Given the description of an element on the screen output the (x, y) to click on. 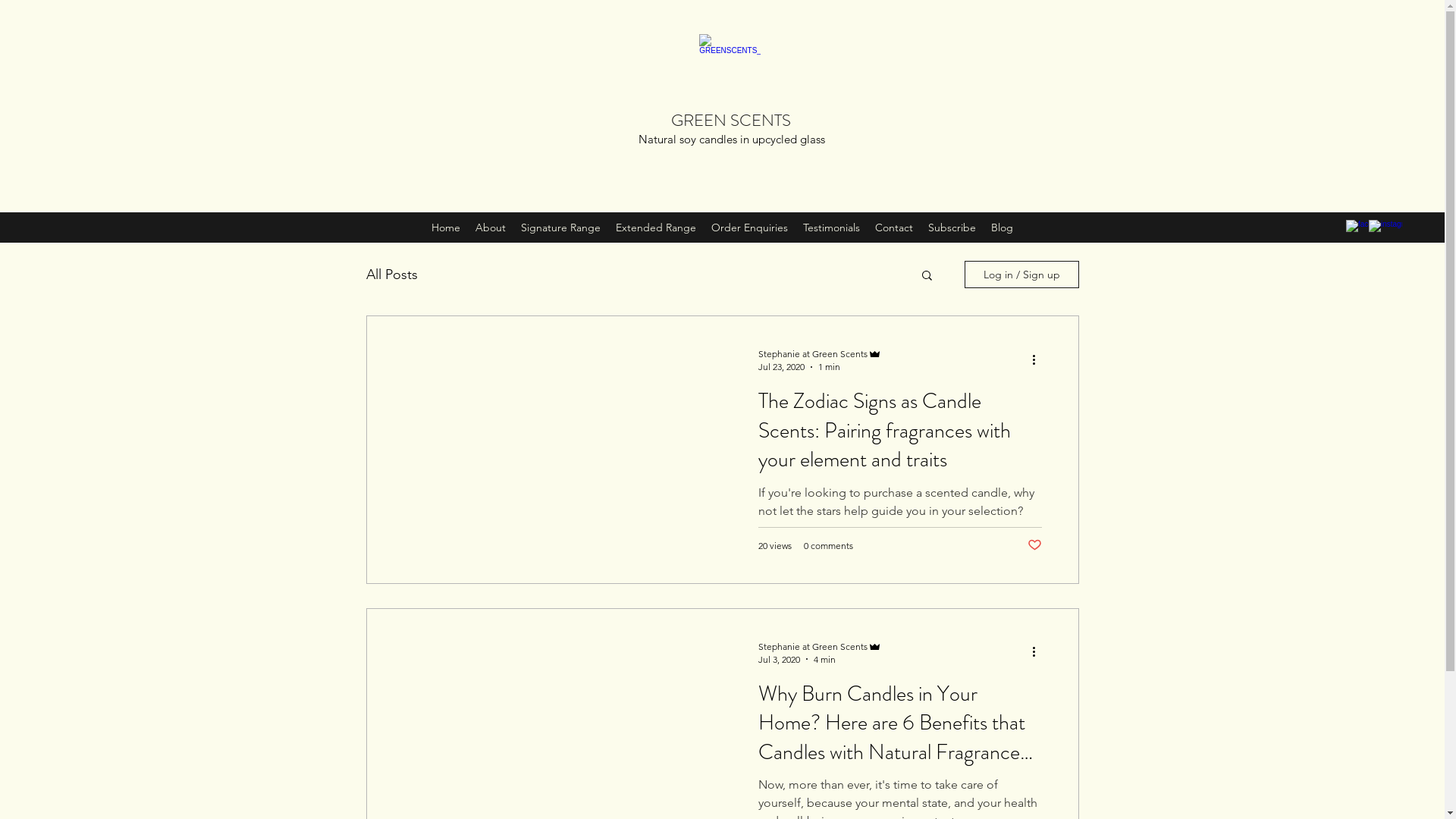
Contact Element type: text (893, 227)
Subscribe Element type: text (951, 227)
Post not marked as liked Element type: text (1034, 545)
Extended Range Element type: text (655, 227)
Order Enquiries Element type: text (749, 227)
Signature Range Element type: text (560, 227)
Home Element type: text (445, 227)
Testimonials Element type: text (831, 227)
About Element type: text (490, 227)
All Posts Element type: text (391, 274)
GREEN SCENTS Element type: text (730, 119)
Blog Element type: text (1001, 227)
Log in / Sign up Element type: text (1021, 274)
0 comments Element type: text (828, 545)
